Given the description of an element on the screen output the (x, y) to click on. 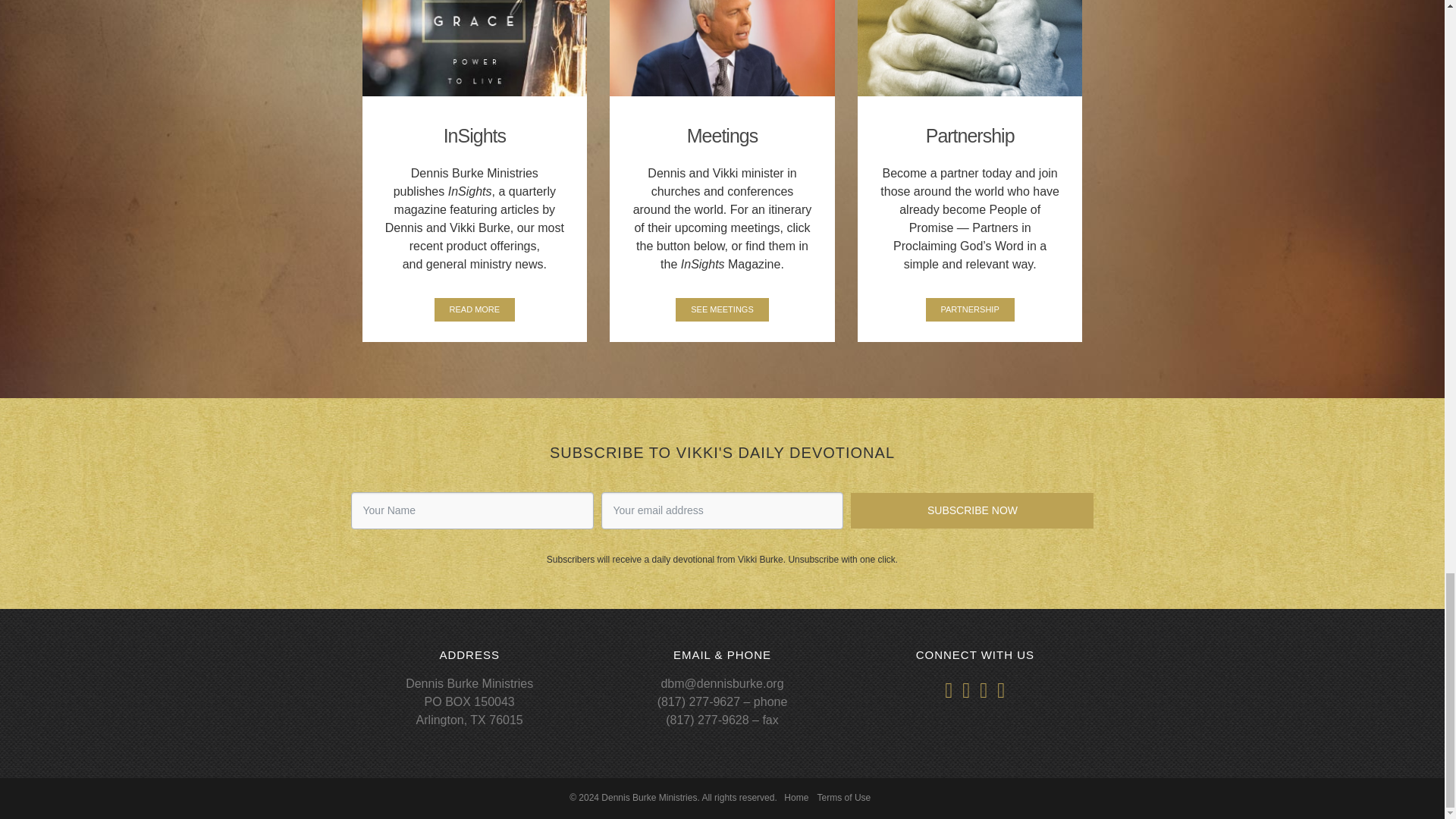
Subscribe Now (971, 510)
